Given the description of an element on the screen output the (x, y) to click on. 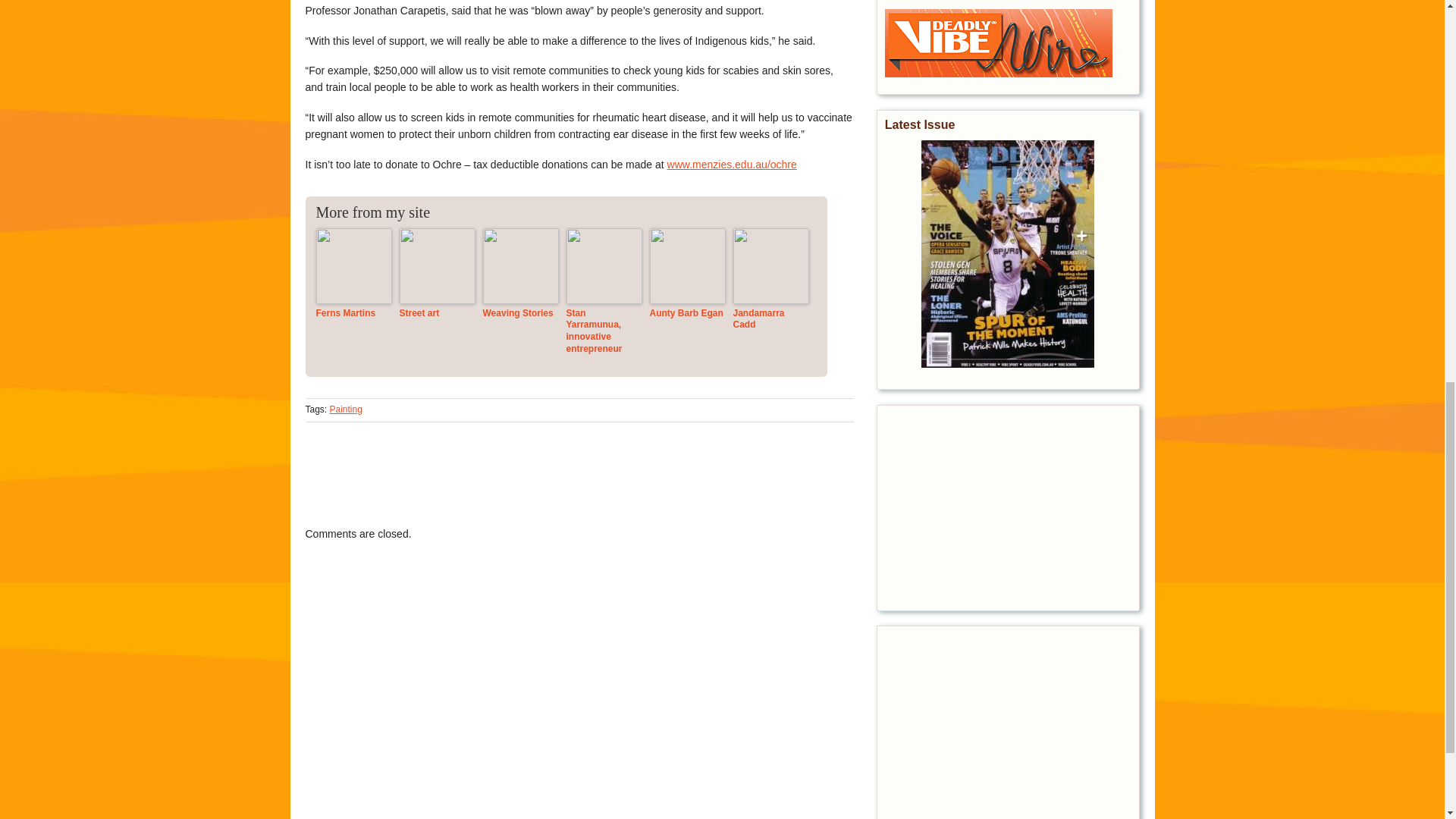
Street art (436, 313)
Weaving Stories (519, 313)
Ferns Martins (353, 313)
Stan Yarramunua, innovative entrepreneur (604, 330)
Painting (346, 409)
Jandamarra Cadd (770, 319)
Aunty Barb Egan (687, 313)
